Given the description of an element on the screen output the (x, y) to click on. 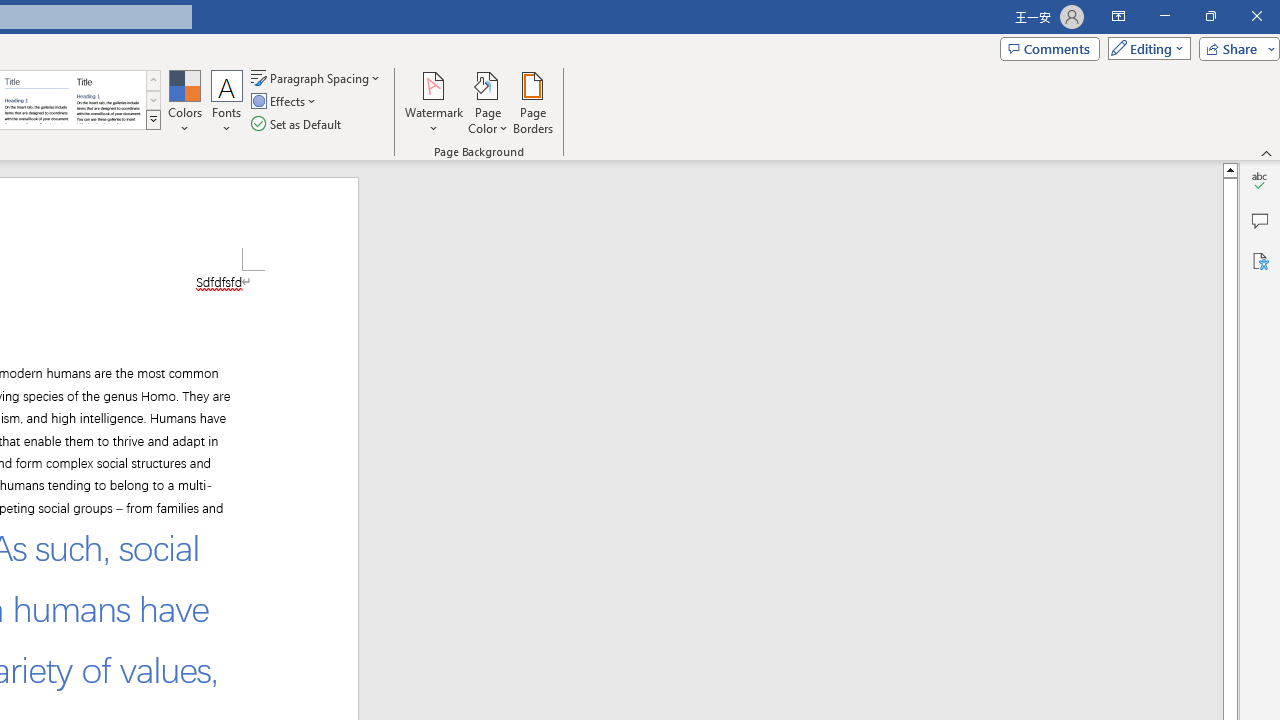
Word 2010 (36, 100)
Accessibility (1260, 260)
Effects (285, 101)
Fonts (227, 102)
Set as Default (298, 124)
